Given the description of an element on the screen output the (x, y) to click on. 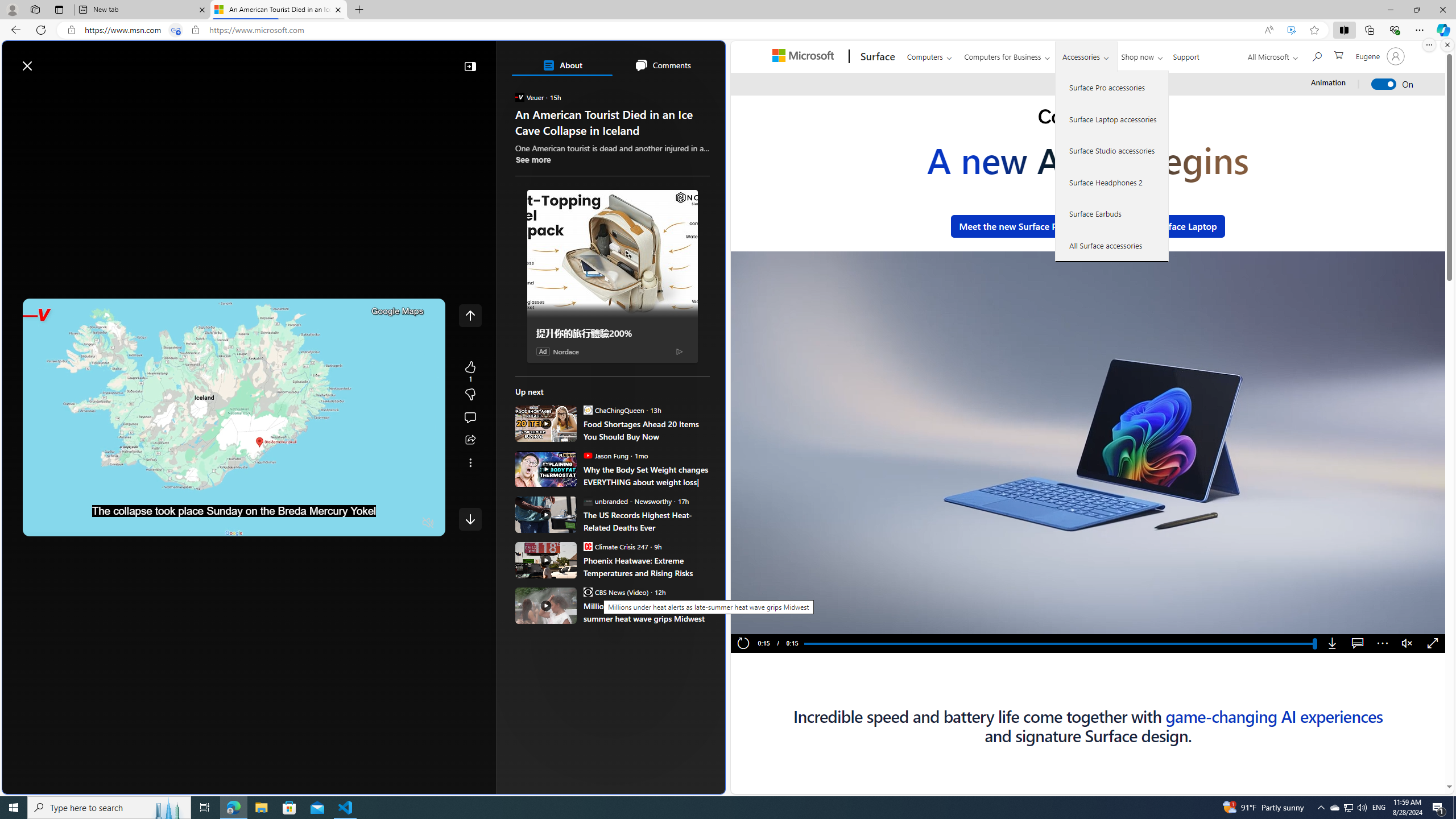
Download (1332, 643)
Enter your search term (366, 59)
Search Microsoft.com (1316, 54)
Support (1185, 54)
More options. (1428, 45)
